Given the description of an element on the screen output the (x, y) to click on. 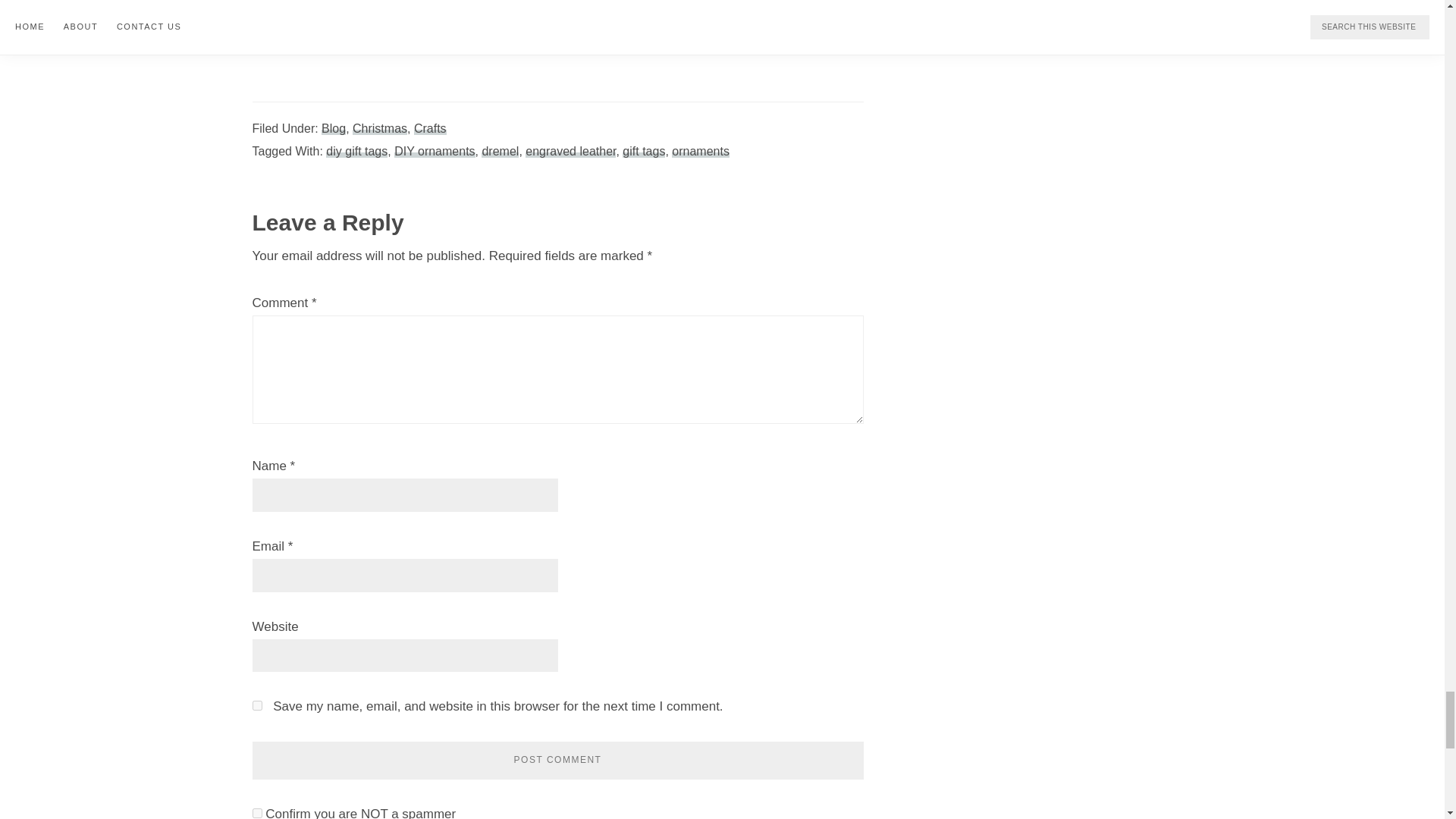
Post Comment (557, 760)
on (256, 813)
yes (256, 705)
